Given the description of an element on the screen output the (x, y) to click on. 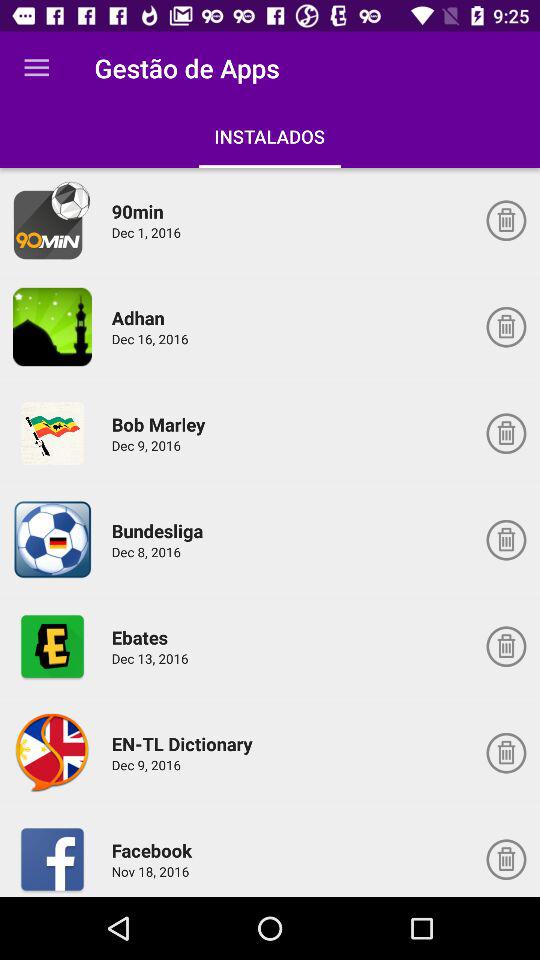
uninstall application (505, 753)
